Given the description of an element on the screen output the (x, y) to click on. 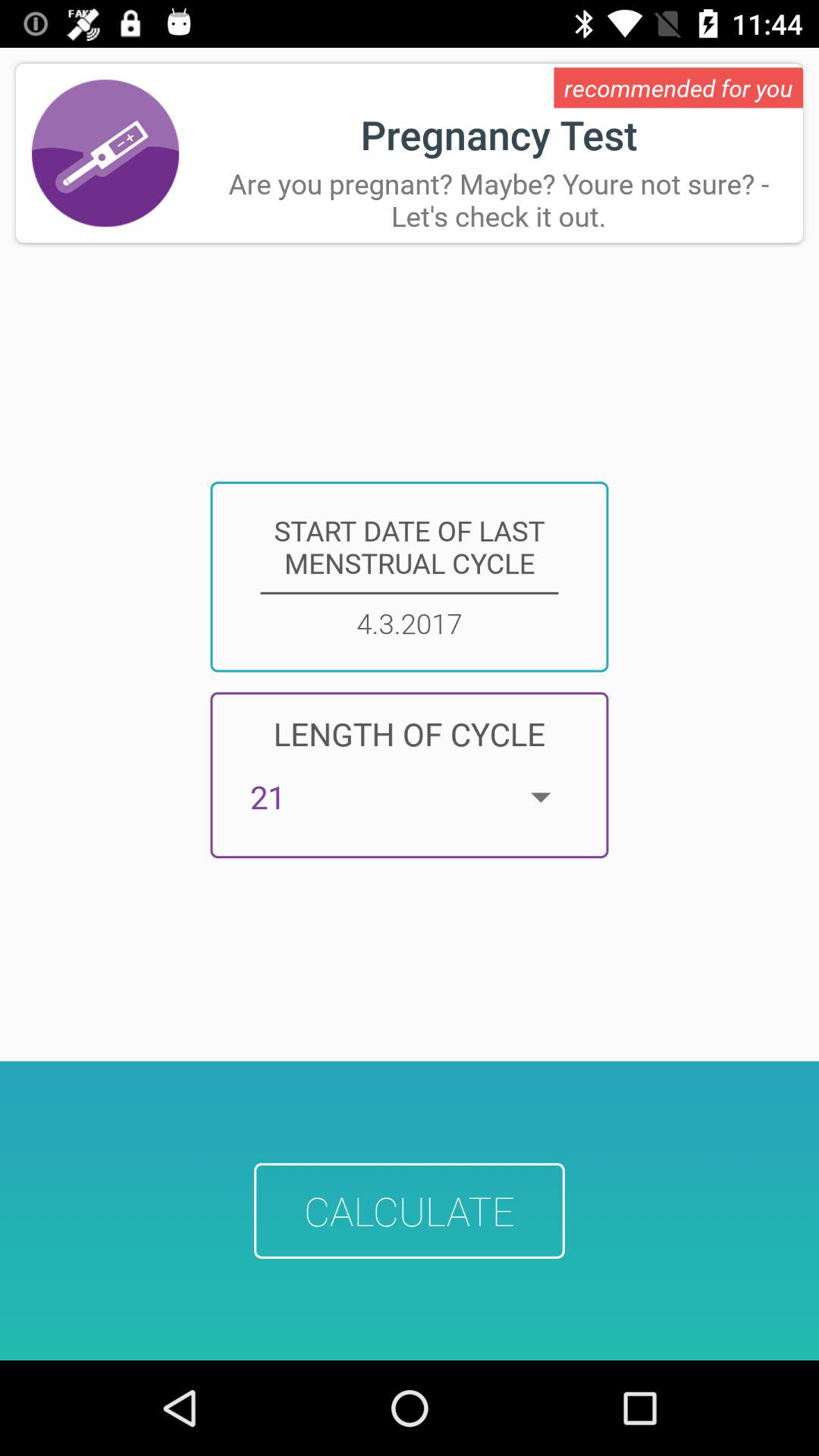
tap the calculate button (409, 1210)
